Given the description of an element on the screen output the (x, y) to click on. 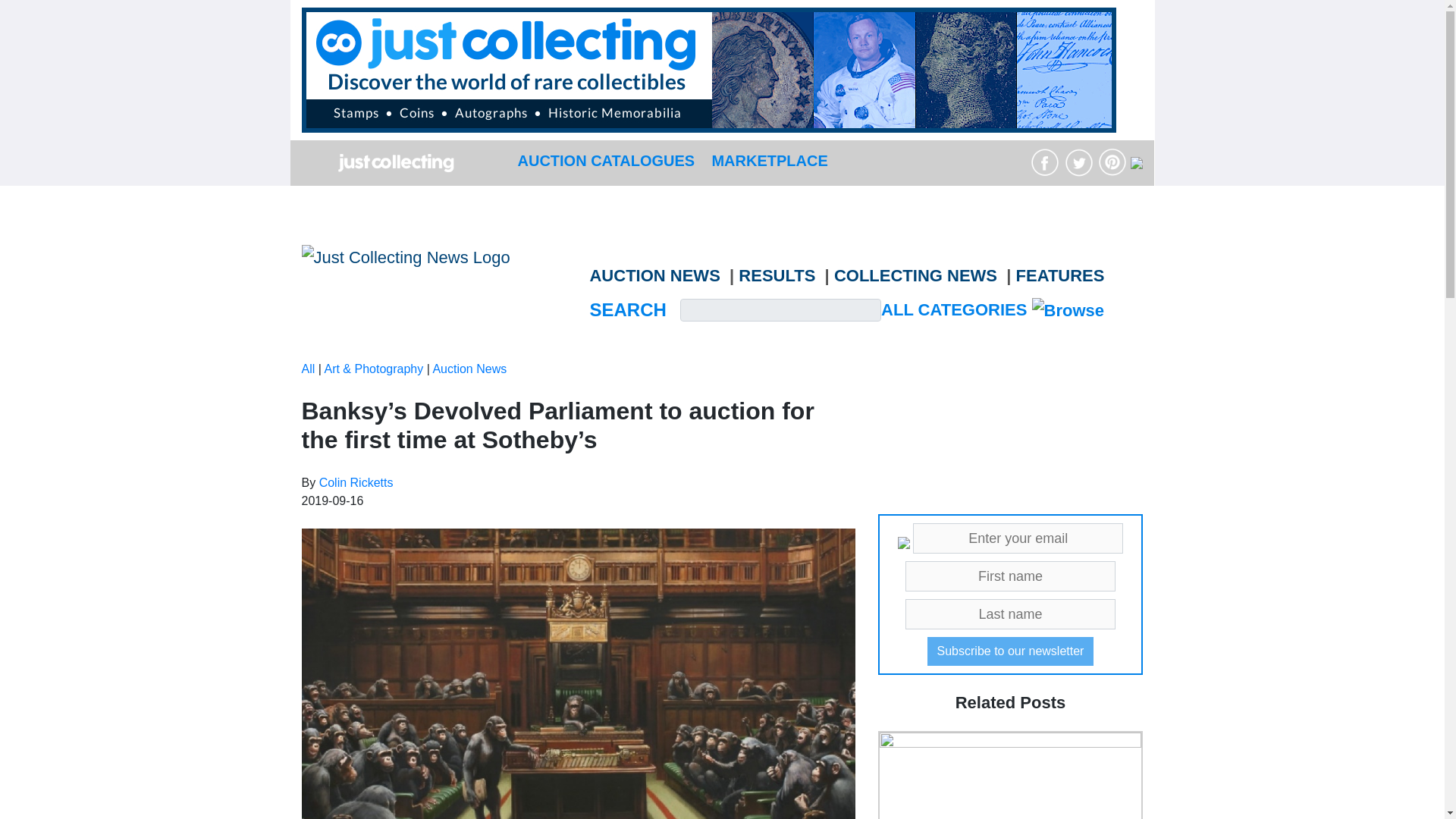
Subscribe to our newsletter (1010, 651)
AUCTION CATALOGUES (605, 160)
Posts by Colin Ricketts (355, 481)
Search for... (780, 309)
